Given the description of an element on the screen output the (x, y) to click on. 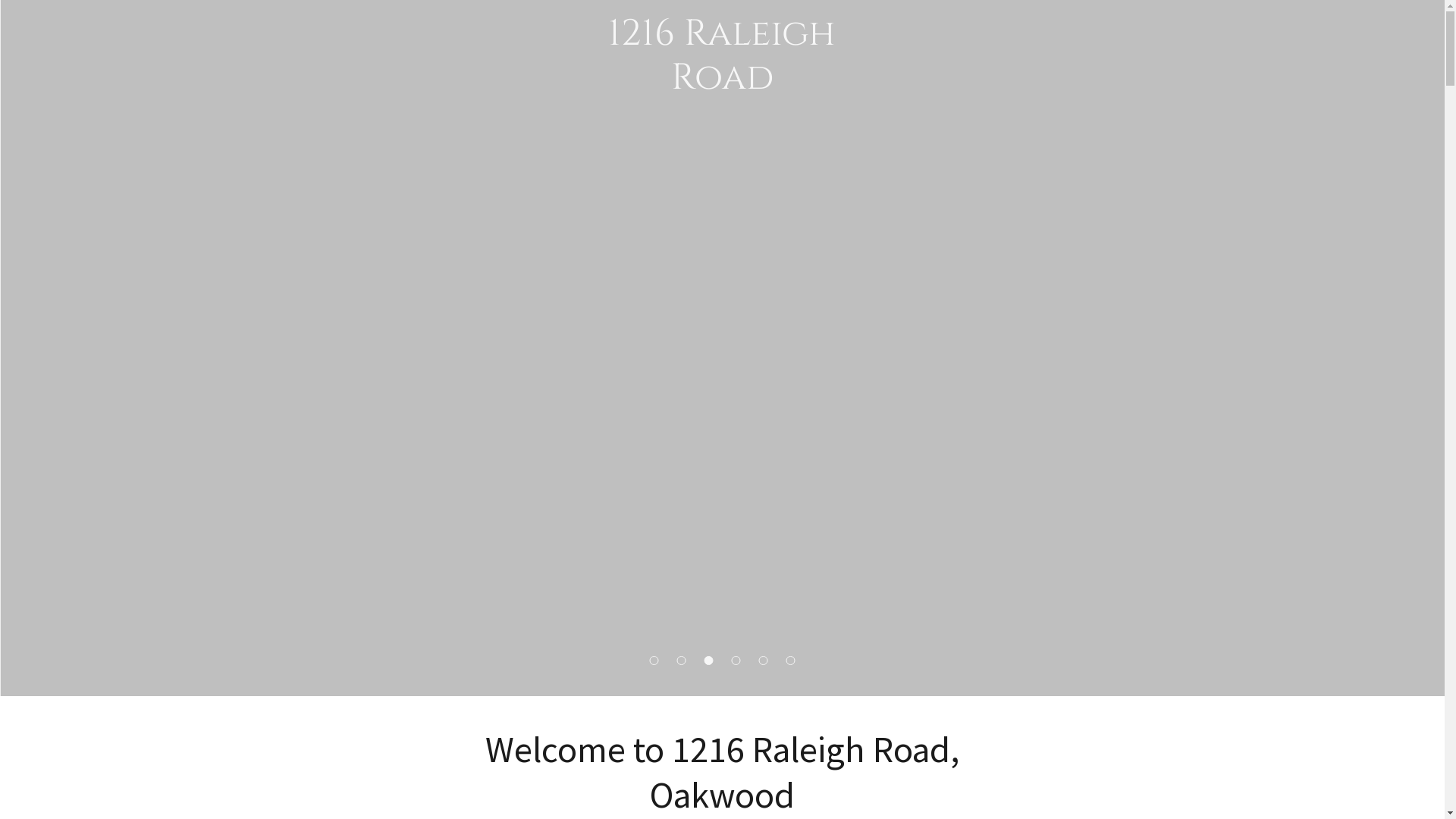
1216 Raleigh Road Element type: text (722, 83)
